Given the description of an element on the screen output the (x, y) to click on. 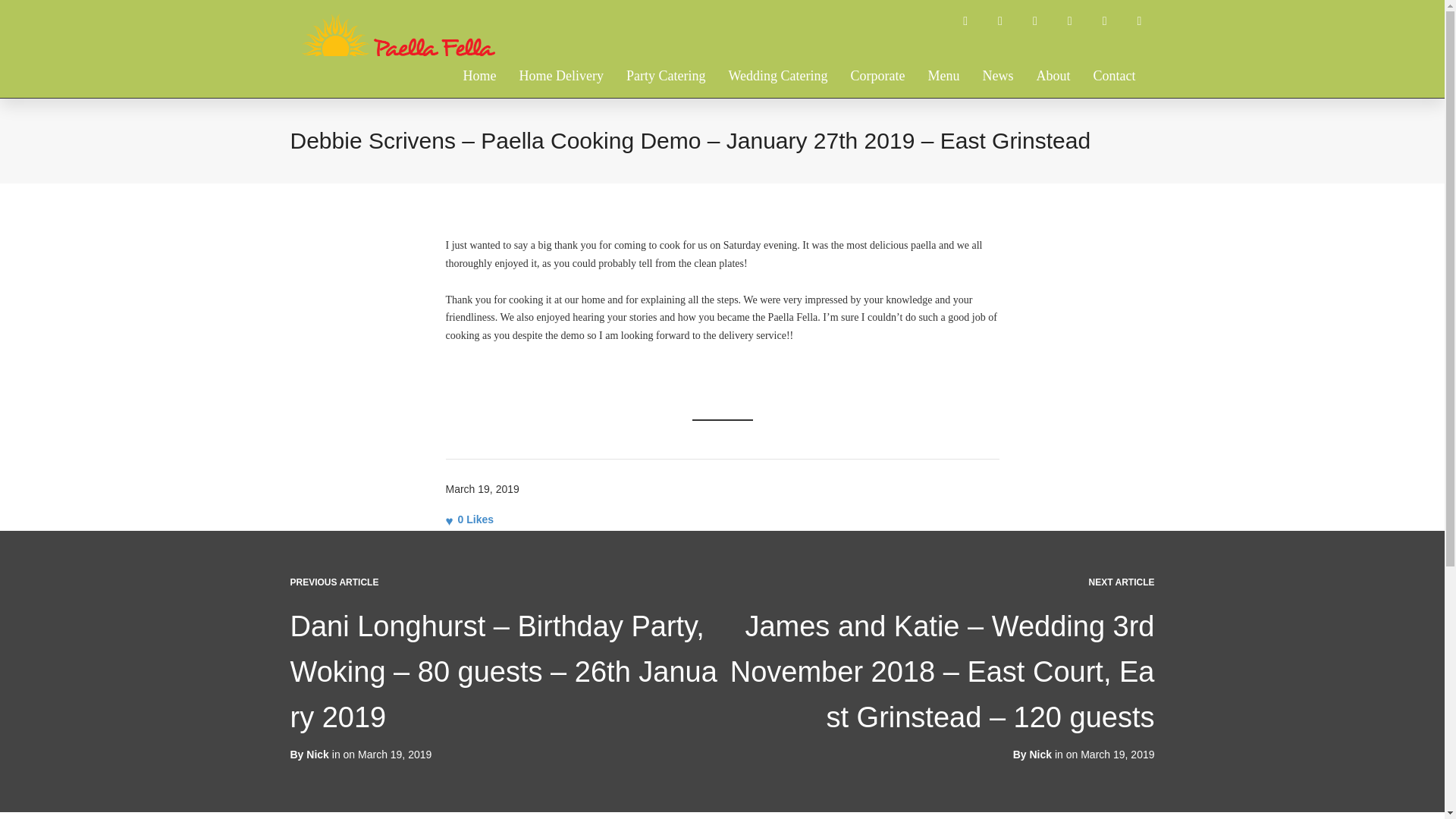
Home Delivery (561, 45)
Wedding Catering (777, 45)
Party Catering (665, 45)
